Given the description of an element on the screen output the (x, y) to click on. 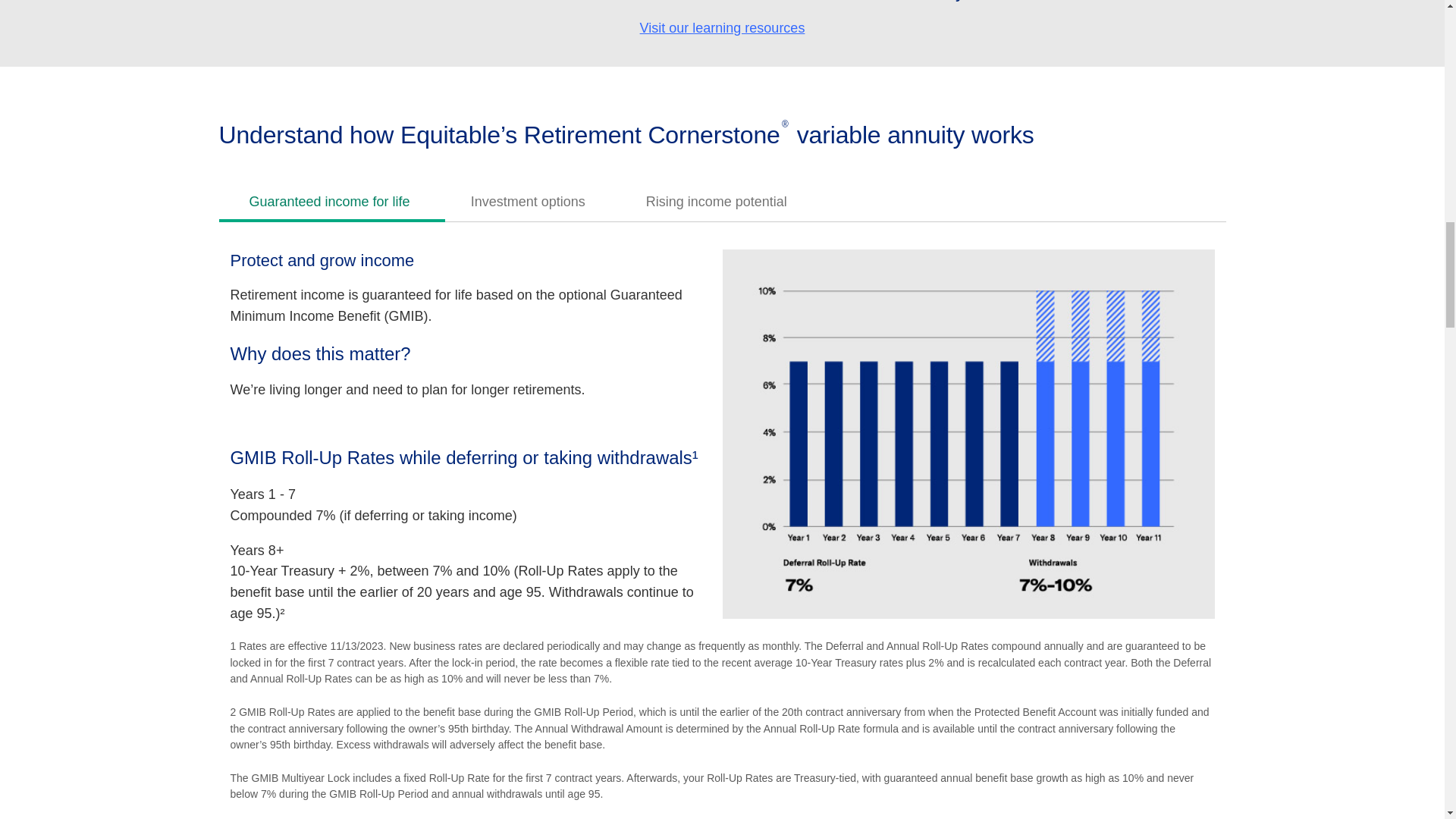
Visit our learning resources (722, 28)
Guaranteed income for life (328, 198)
Investment options (528, 198)
Rising income potential (715, 198)
